Given the description of an element on the screen output the (x, y) to click on. 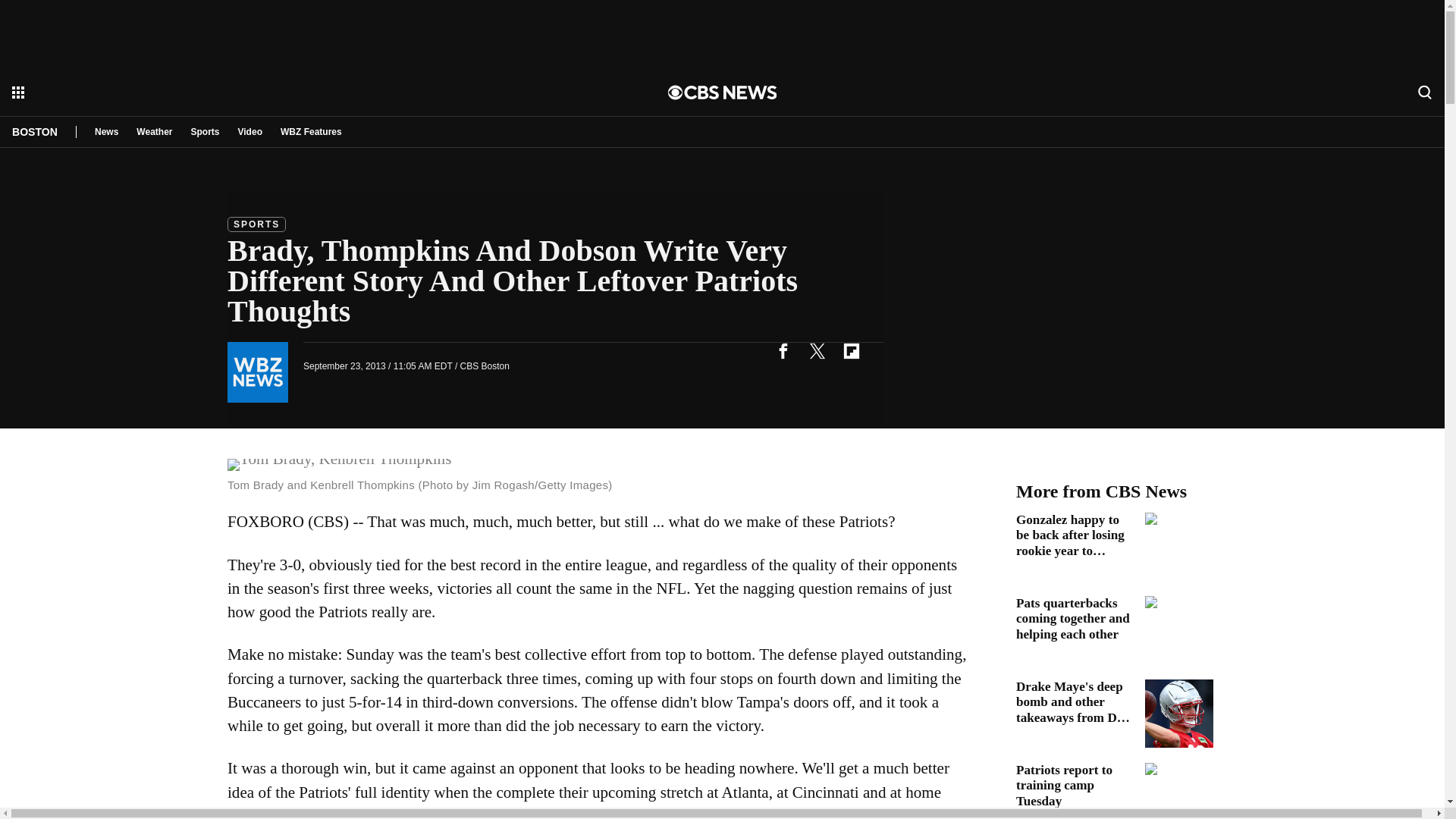
facebook (782, 350)
flipboard (850, 350)
twitter (816, 350)
